Given the description of an element on the screen output the (x, y) to click on. 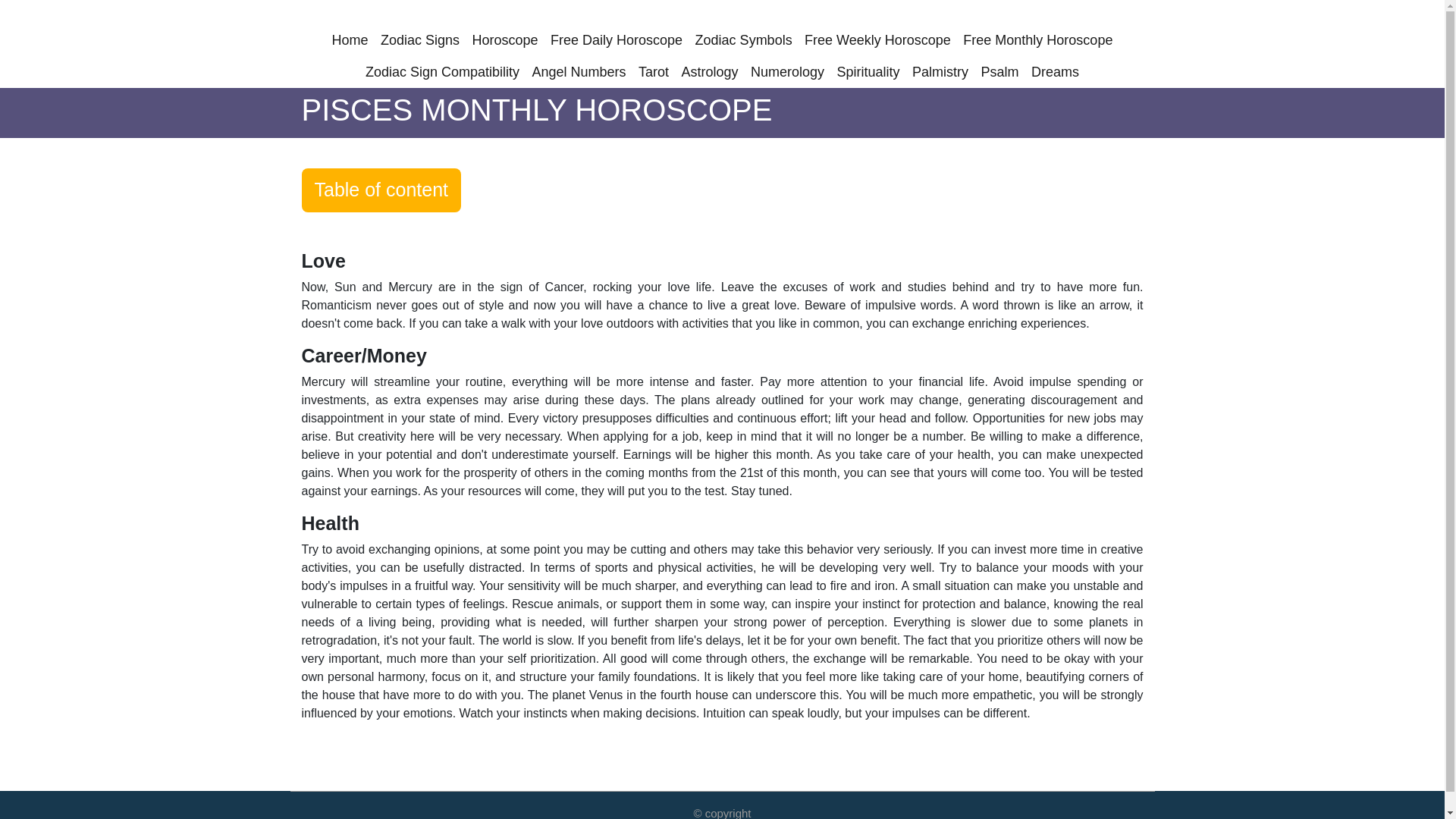
Zodiac Signs (420, 40)
Free Monthly Horoscope (1037, 40)
Home (349, 40)
Table of content (381, 190)
Spirituality (868, 71)
Tarot (653, 71)
Zodiac Symbols (743, 40)
Free Weekly Horoscope (877, 40)
Dreams (1054, 71)
Psalm (1000, 71)
Numerology (787, 71)
Horoscope (504, 40)
Astrology (709, 71)
Zodiac Sign Compatibility (442, 71)
